Given the description of an element on the screen output the (x, y) to click on. 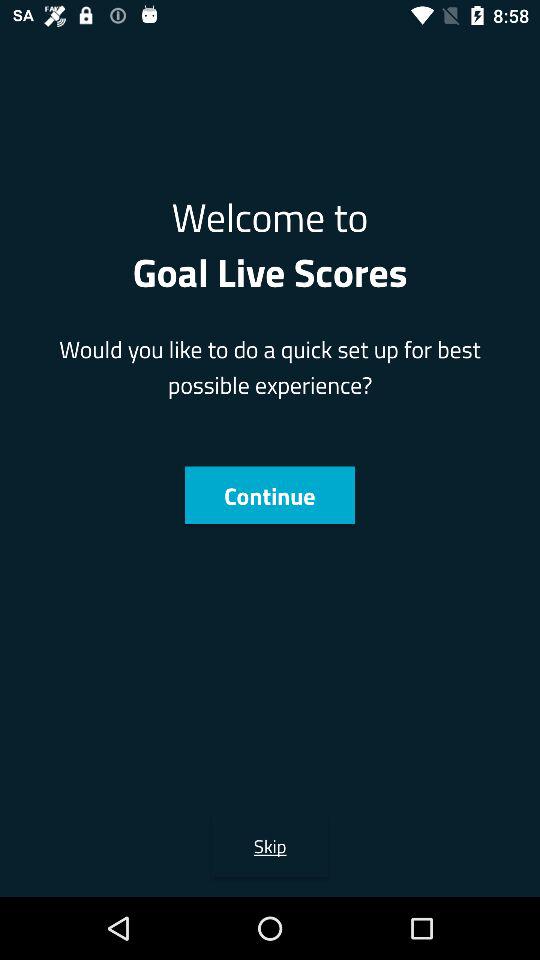
tap the item below would you like (269, 495)
